Given the description of an element on the screen output the (x, y) to click on. 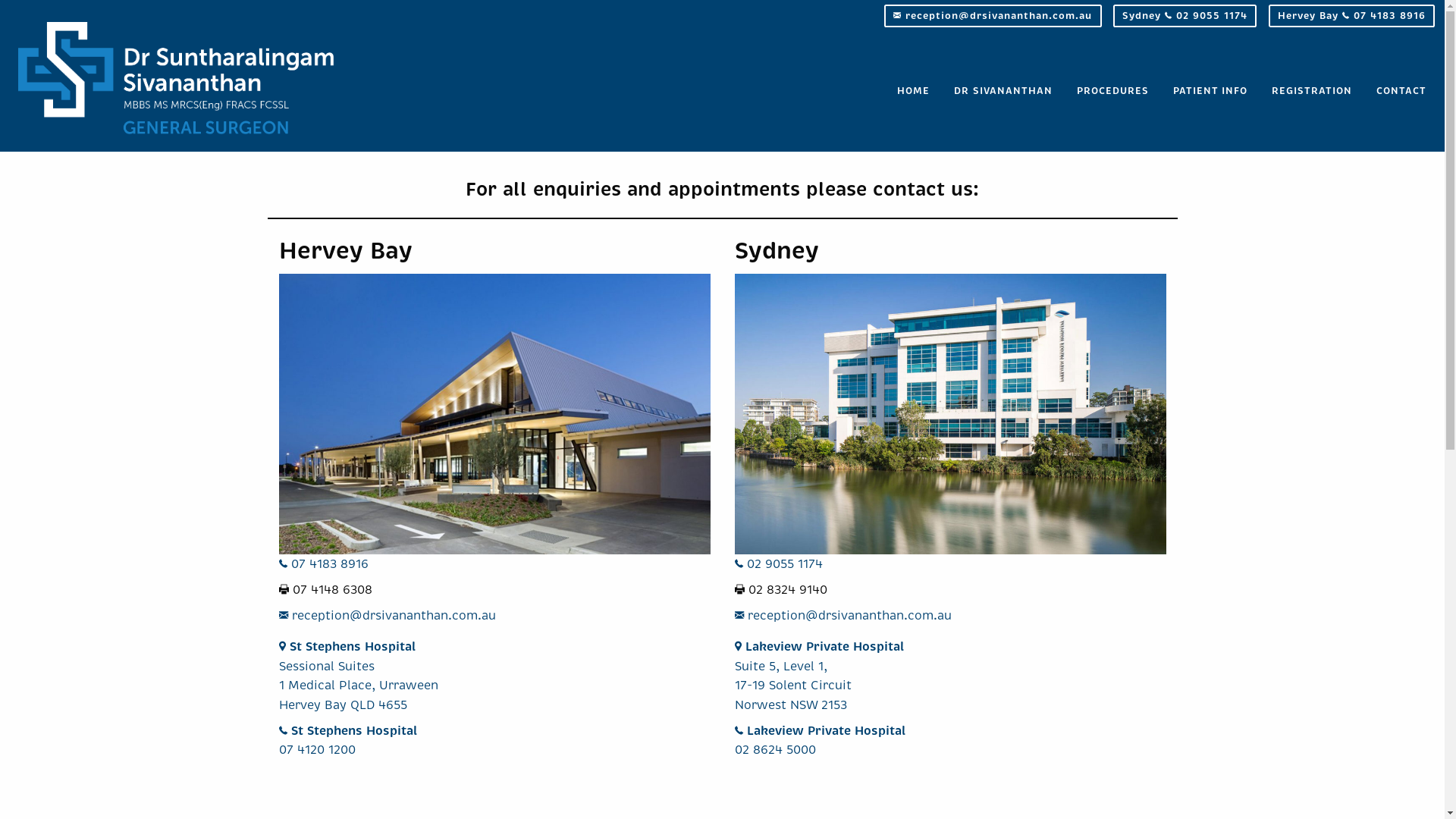
Hervey Bay 07 4183 8916 Element type: text (1351, 15)
REGISTRATION Element type: text (1311, 92)
Sydney 02 9055 1174 Element type: text (1184, 15)
reception@drsivananthan.com.au Element type: text (842, 615)
PROCEDURES Element type: text (1112, 92)
Lakeview Private Hospital
02 8624 5000 Element type: text (819, 740)
St Stephens Hospital
07 4120 1200 Element type: text (348, 740)
HOME Element type: text (912, 92)
reception@drsivananthan.com.au Element type: text (992, 15)
reception@drsivananthan.com.au Element type: text (387, 615)
07 4183 8916 Element type: text (323, 563)
02 9055 1174 Element type: text (778, 563)
CONTACT Element type: text (1401, 92)
PATIENT INFO Element type: text (1210, 92)
DR SIVANANTHAN Element type: text (1002, 92)
